Given the description of an element on the screen output the (x, y) to click on. 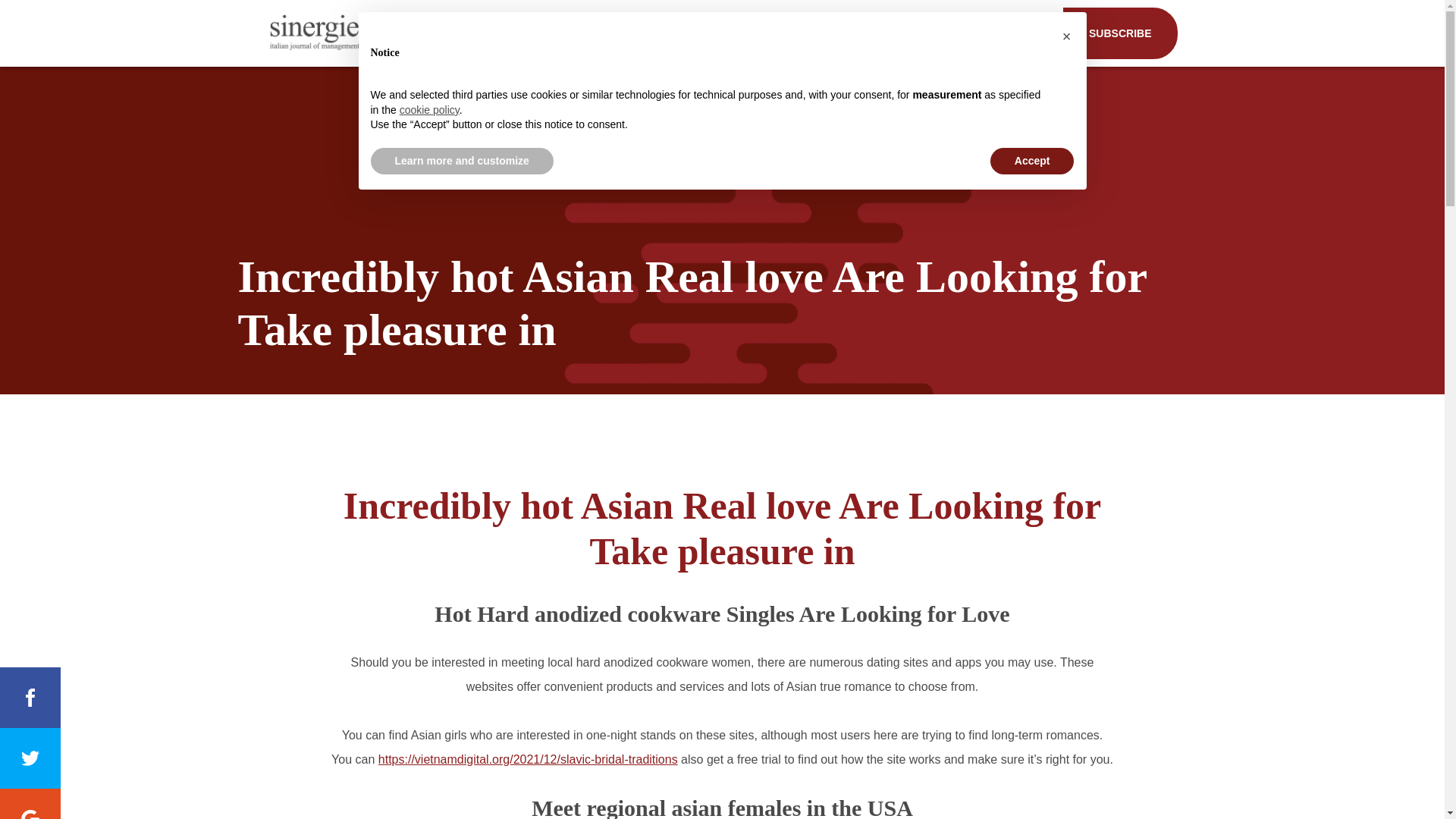
Past events (906, 33)
Conference (802, 33)
SUBSCRIBE (1119, 32)
